Given the description of an element on the screen output the (x, y) to click on. 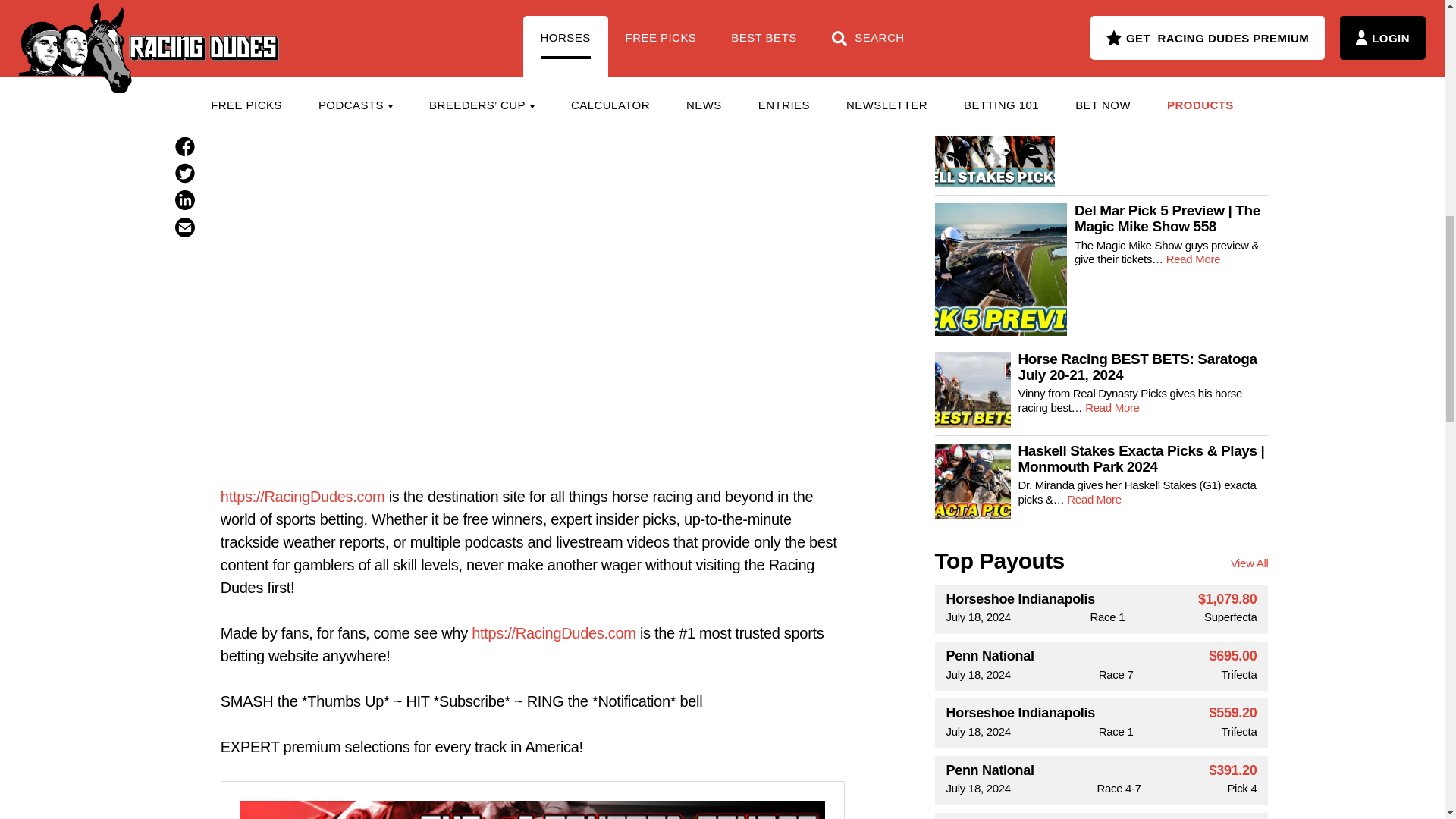
Posts by Curtis "Magic" Kalleward (532, 2)
